Given the description of an element on the screen output the (x, y) to click on. 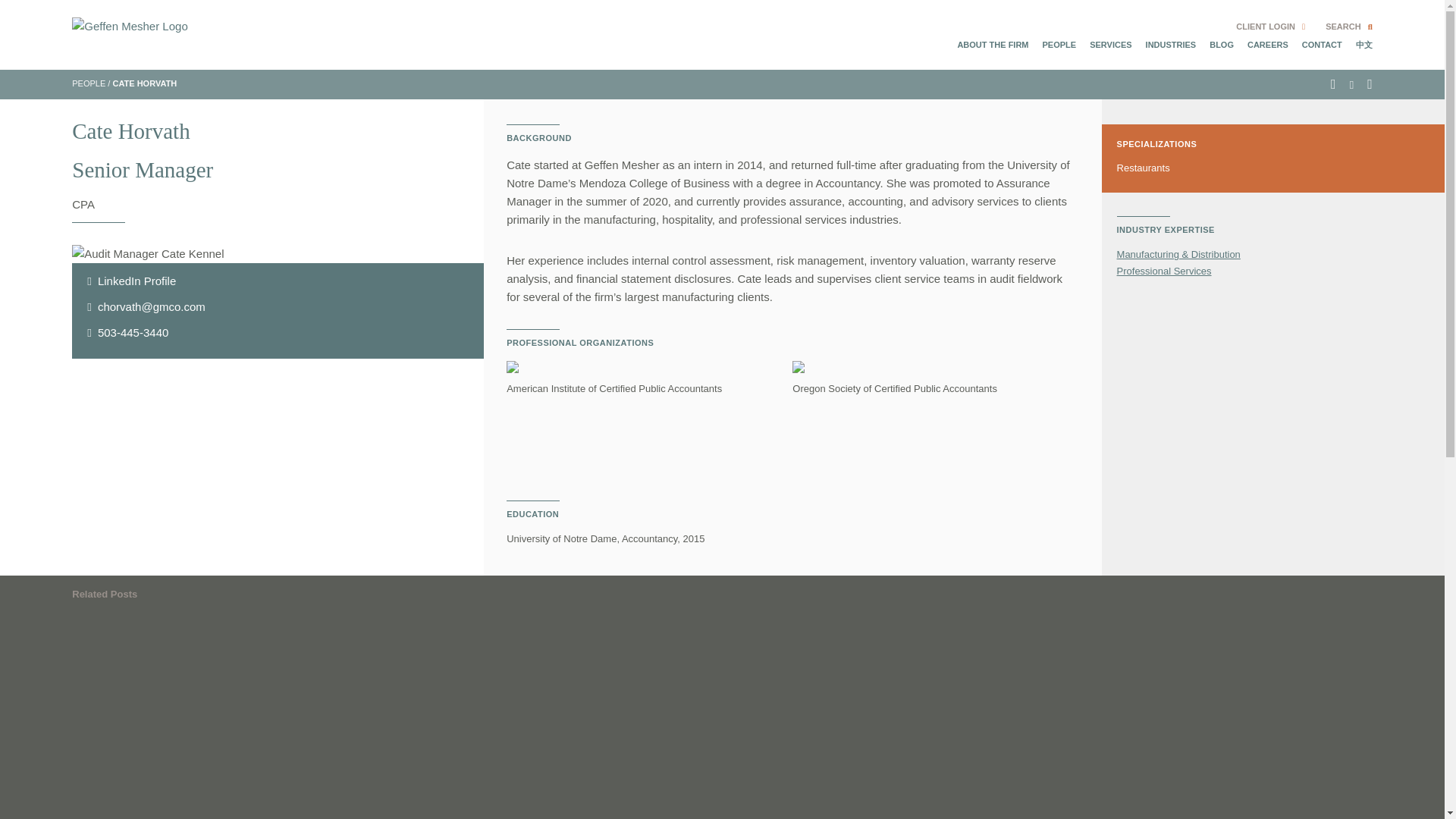
INDUSTRIES (1170, 44)
CAREERS (1267, 44)
BLOG (1221, 44)
ABOUT THE FIRM (991, 44)
CLIENT LOGIN (1270, 26)
SERVICES (1110, 44)
SEARCH (1348, 26)
PEOPLE (1059, 44)
